Given the description of an element on the screen output the (x, y) to click on. 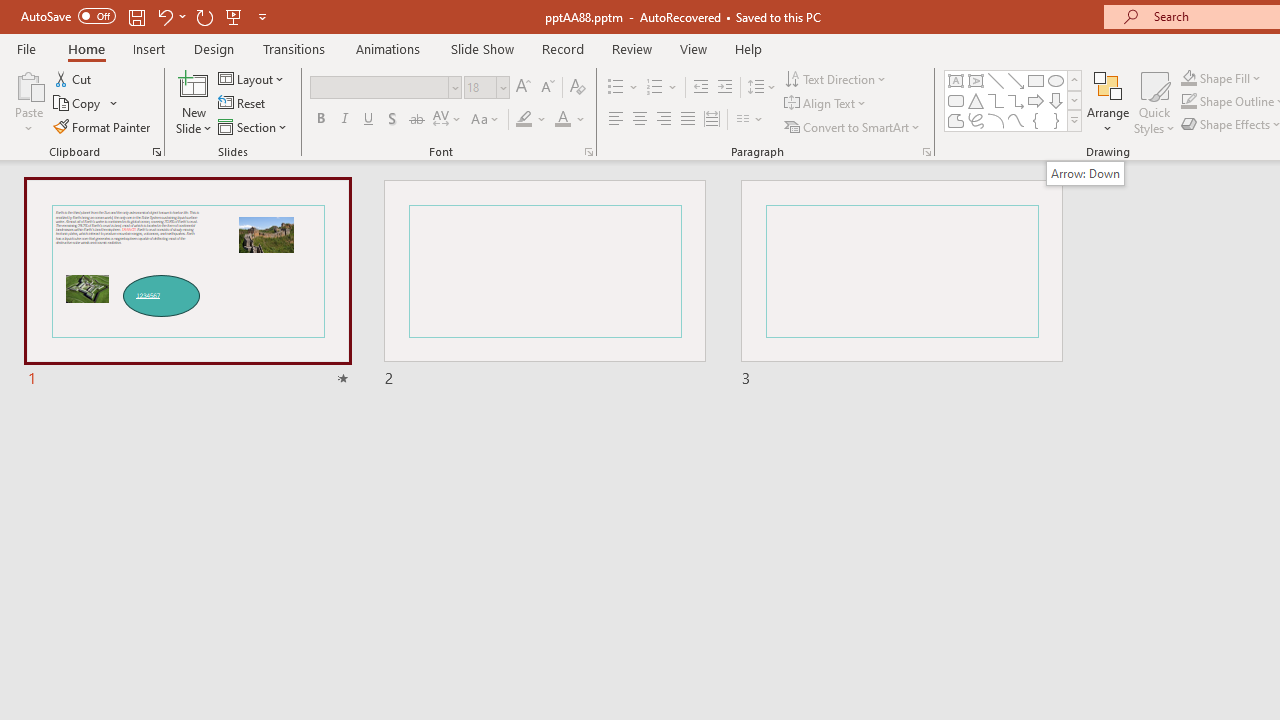
Line Spacing (762, 87)
Strikethrough (416, 119)
Font... (588, 151)
Text Highlight Color Yellow (524, 119)
Quick Styles (1154, 102)
Right Brace (1055, 120)
